Given the description of an element on the screen output the (x, y) to click on. 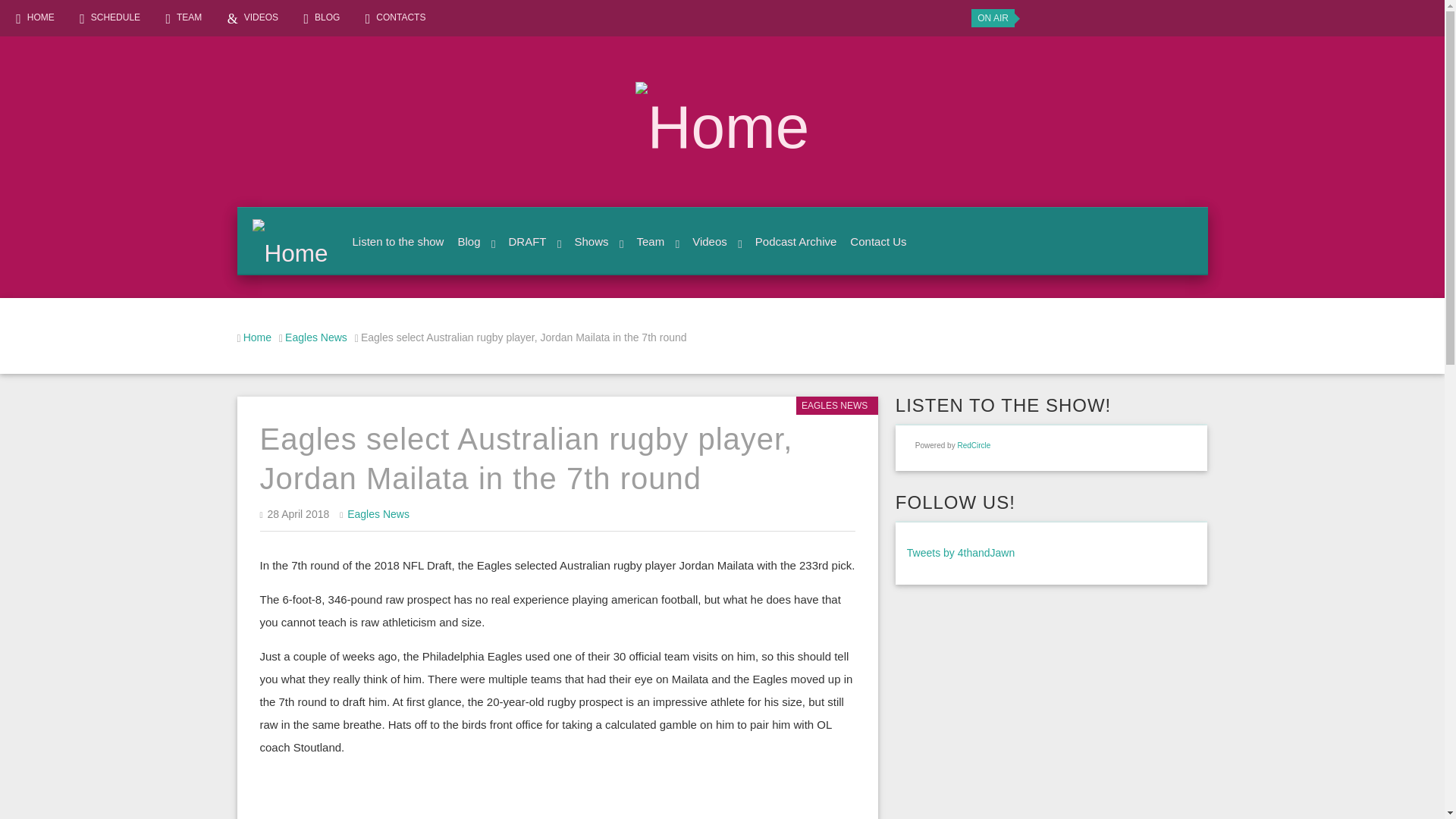
Shows (595, 242)
DRAFT (531, 242)
SCHEDULE (111, 17)
HOME (38, 17)
Listen to the show (395, 242)
CONTACTS (397, 17)
BLOG (323, 17)
Podcast Archive (793, 242)
Videos (713, 242)
TEAM (186, 17)
